Given the description of an element on the screen output the (x, y) to click on. 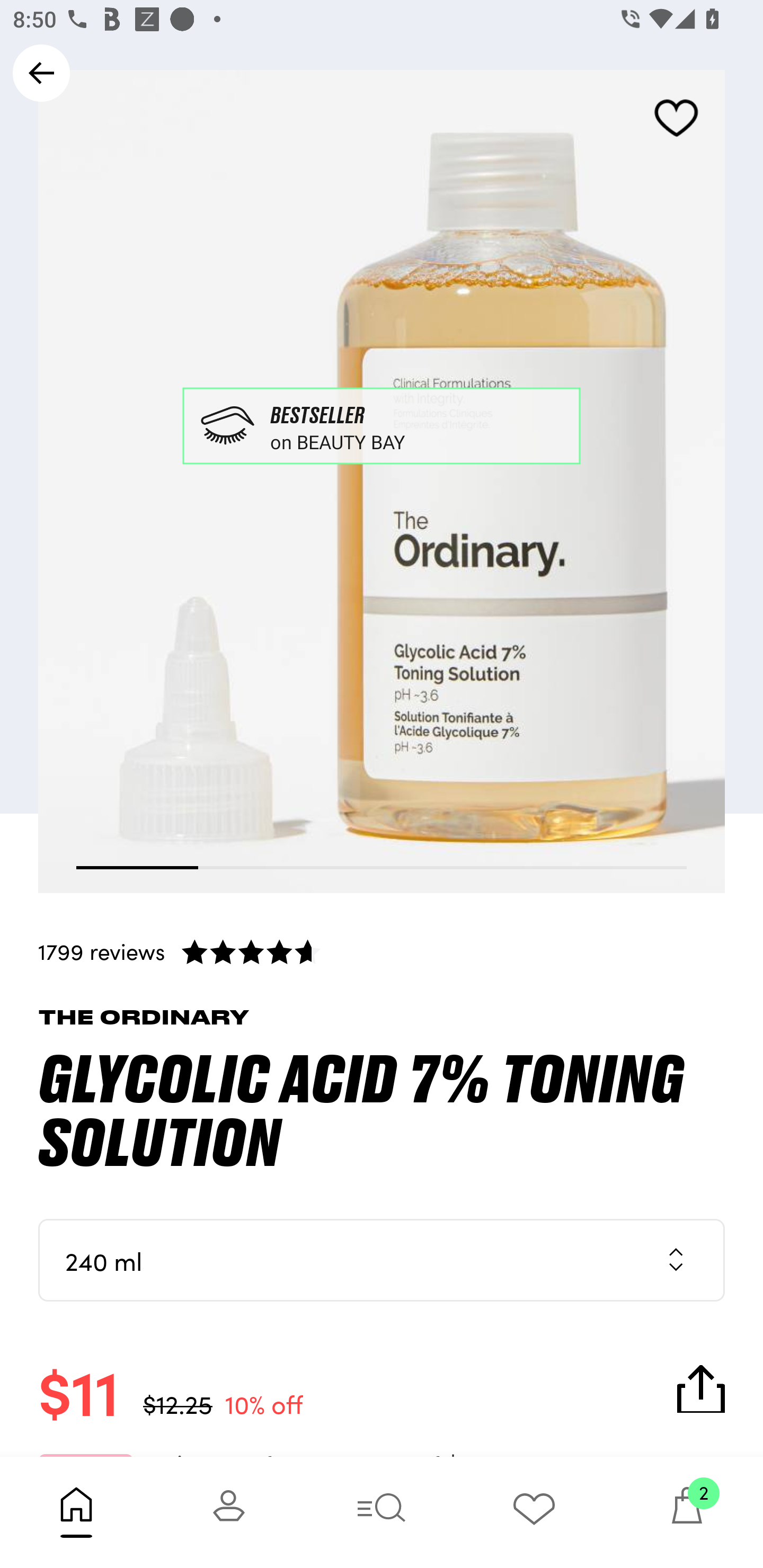
1799 reviews (381, 950)
240 ml  (381, 1259)
2 (686, 1512)
